Given the description of an element on the screen output the (x, y) to click on. 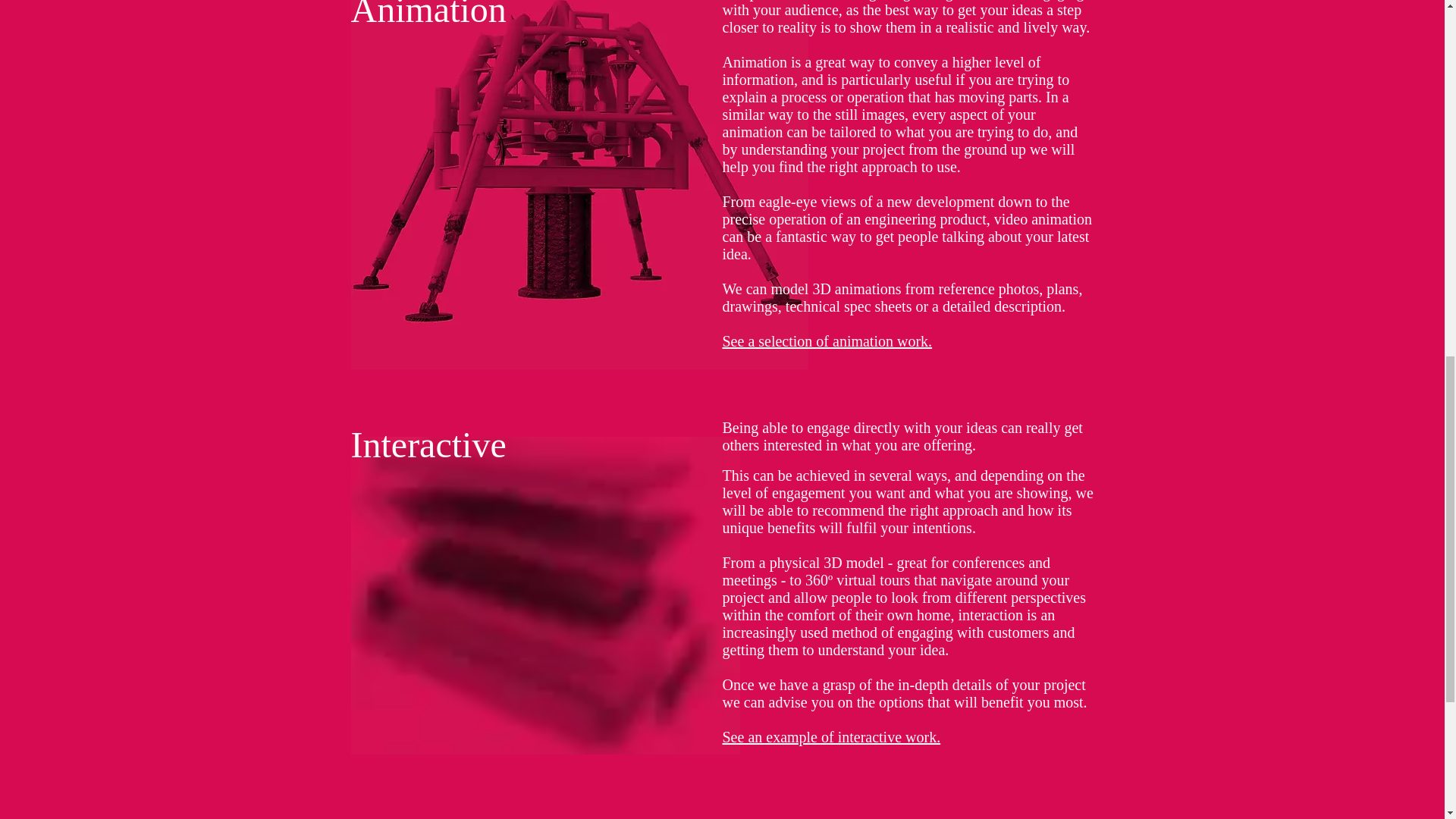
See a selection of animation work. (826, 340)
See an example of interactive work. (831, 736)
